Given the description of an element on the screen output the (x, y) to click on. 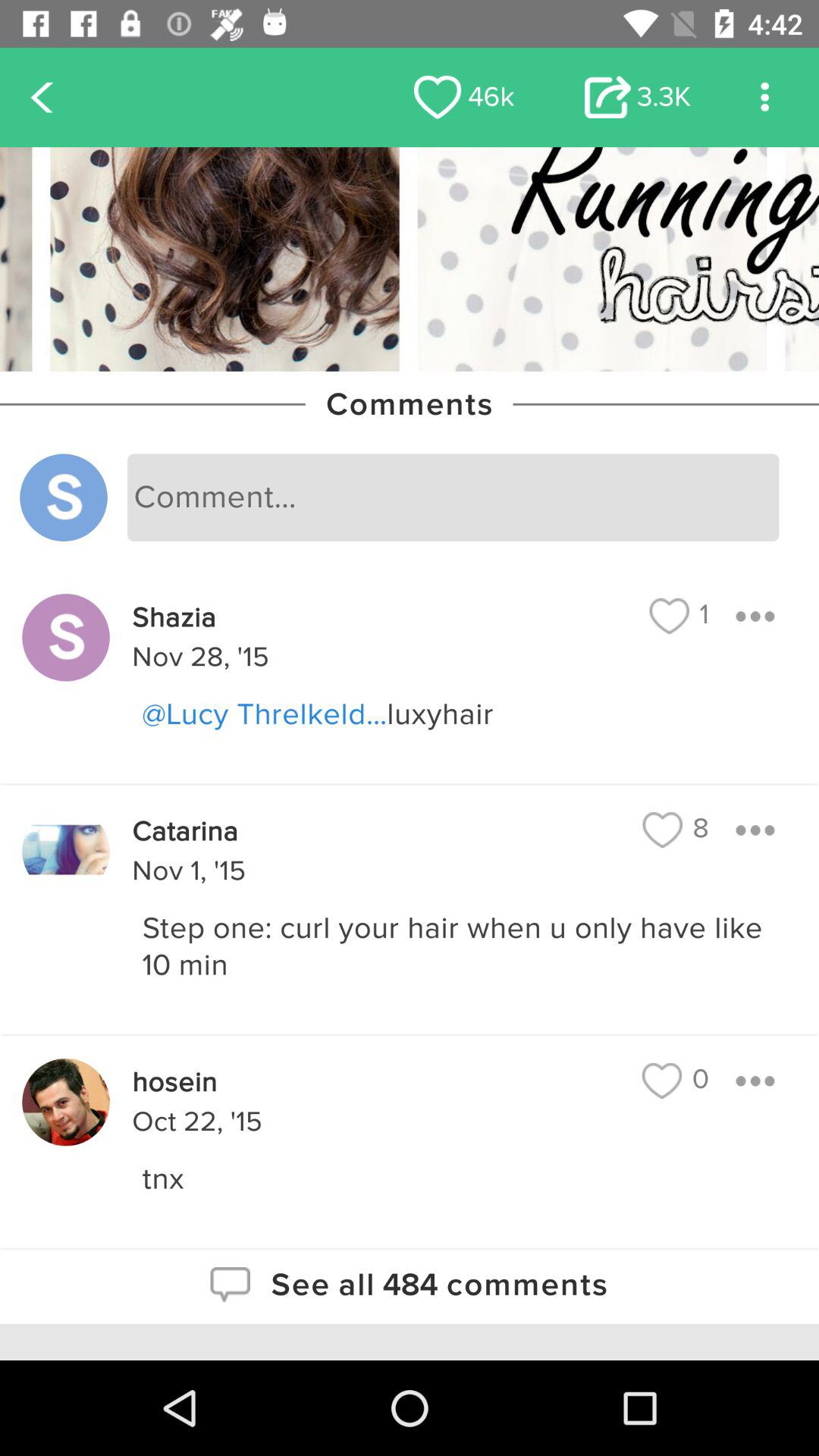
return to main image (409, 259)
